Given the description of an element on the screen output the (x, y) to click on. 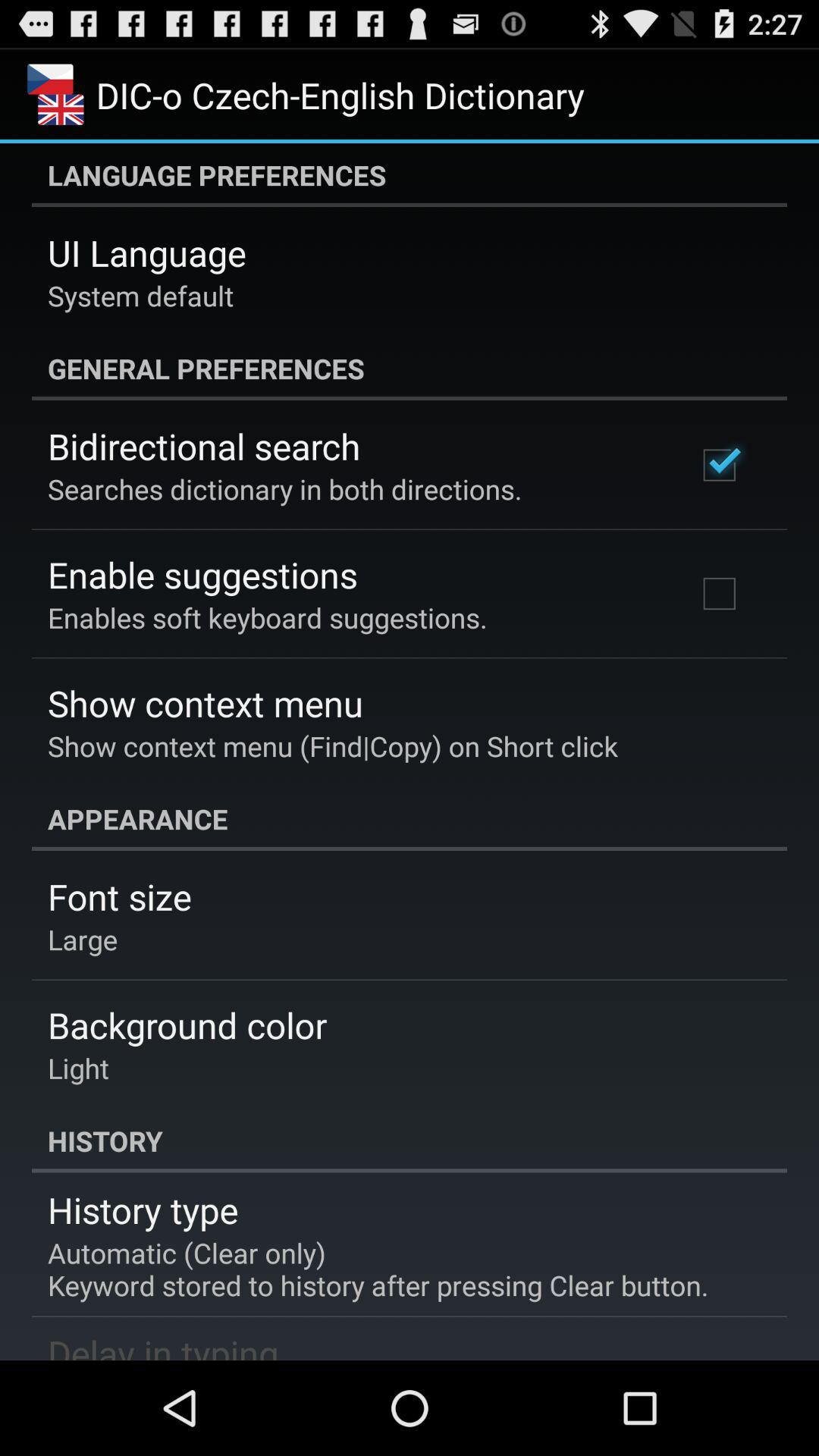
turn off icon above show context menu (267, 617)
